Given the description of an element on the screen output the (x, y) to click on. 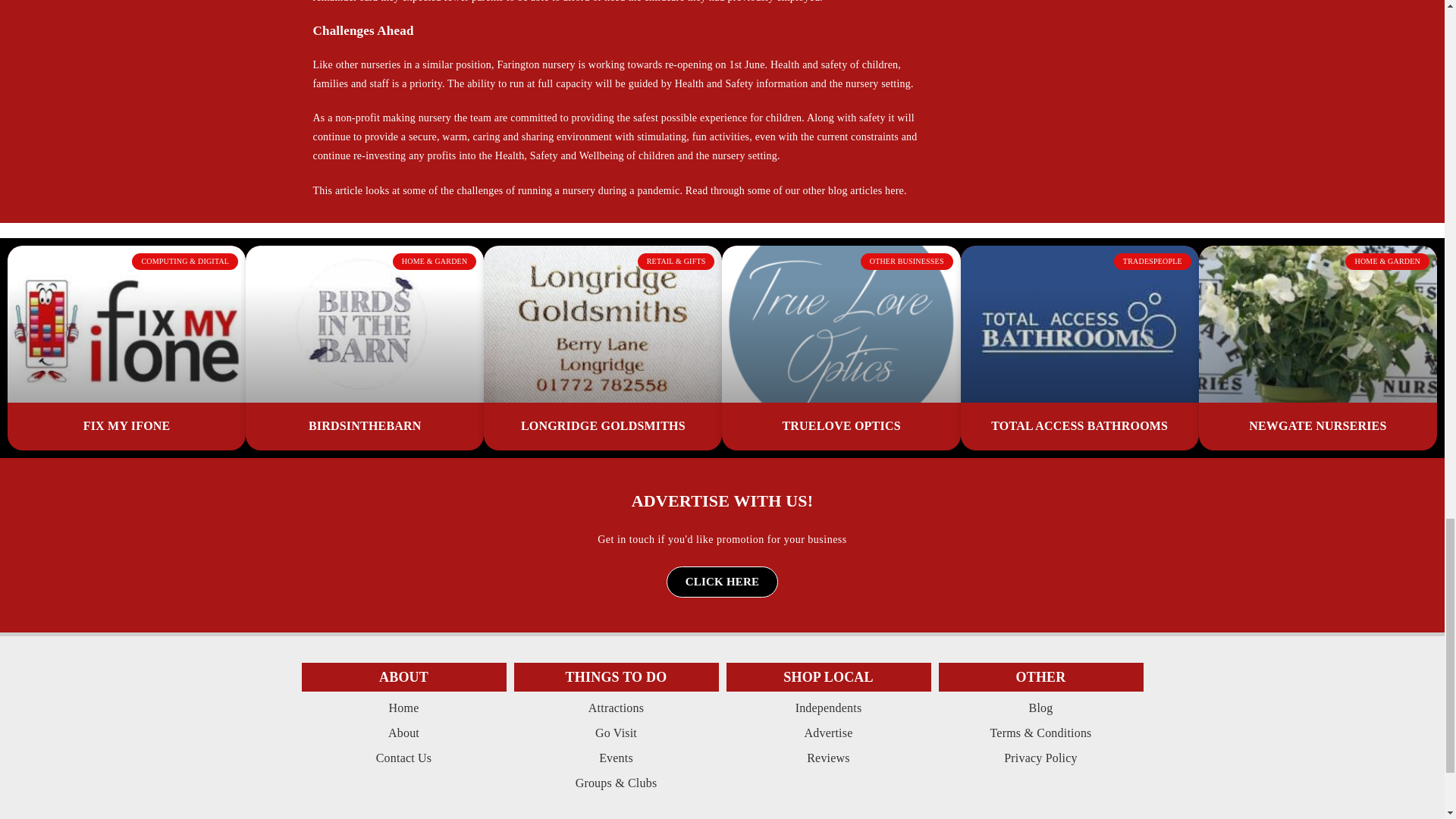
TRUELOVE OPTICS (840, 425)
LONGRIDGE GOLDSMITHS (603, 425)
FIX MY IFONE (126, 425)
BIRDSINTHEBARN (365, 425)
Farington nursery (535, 64)
NEWGATE NURSERIES (1317, 425)
TOTAL ACCESS BATHROOMS (1079, 425)
here (894, 190)
